Given the description of an element on the screen output the (x, y) to click on. 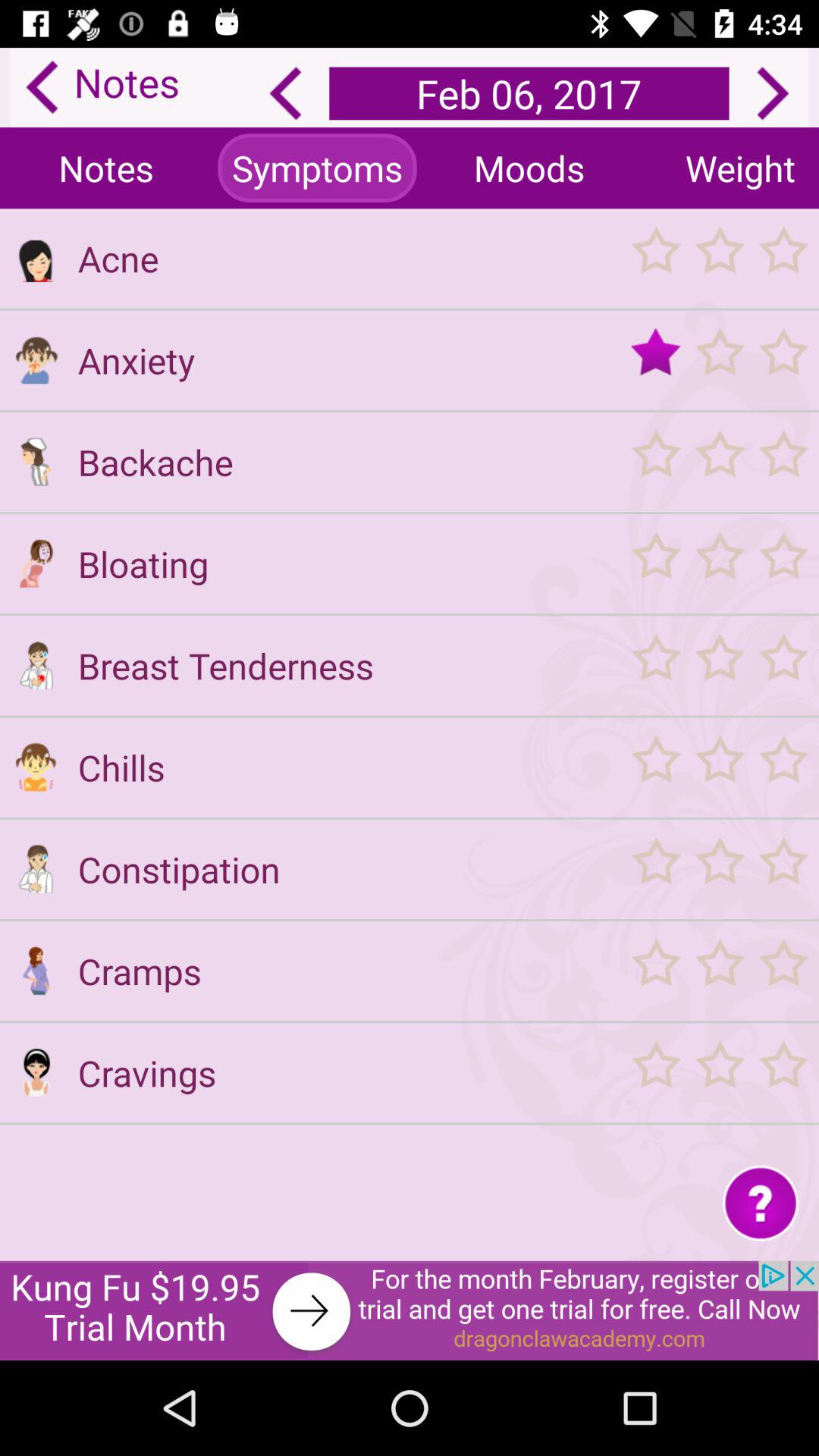
go to next arrow (772, 93)
